Given the description of an element on the screen output the (x, y) to click on. 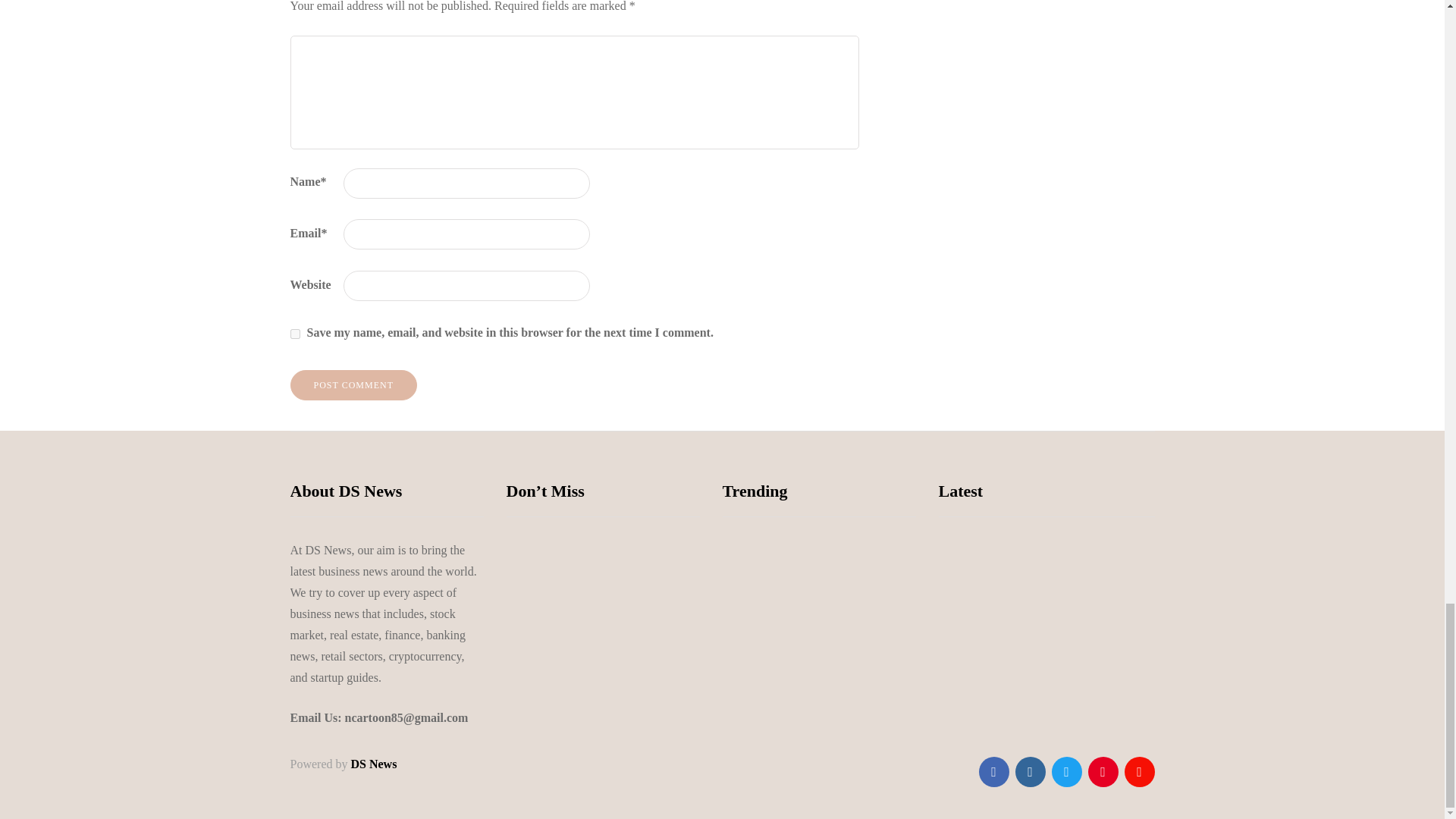
yes (294, 334)
Post comment (352, 385)
